Given the description of an element on the screen output the (x, y) to click on. 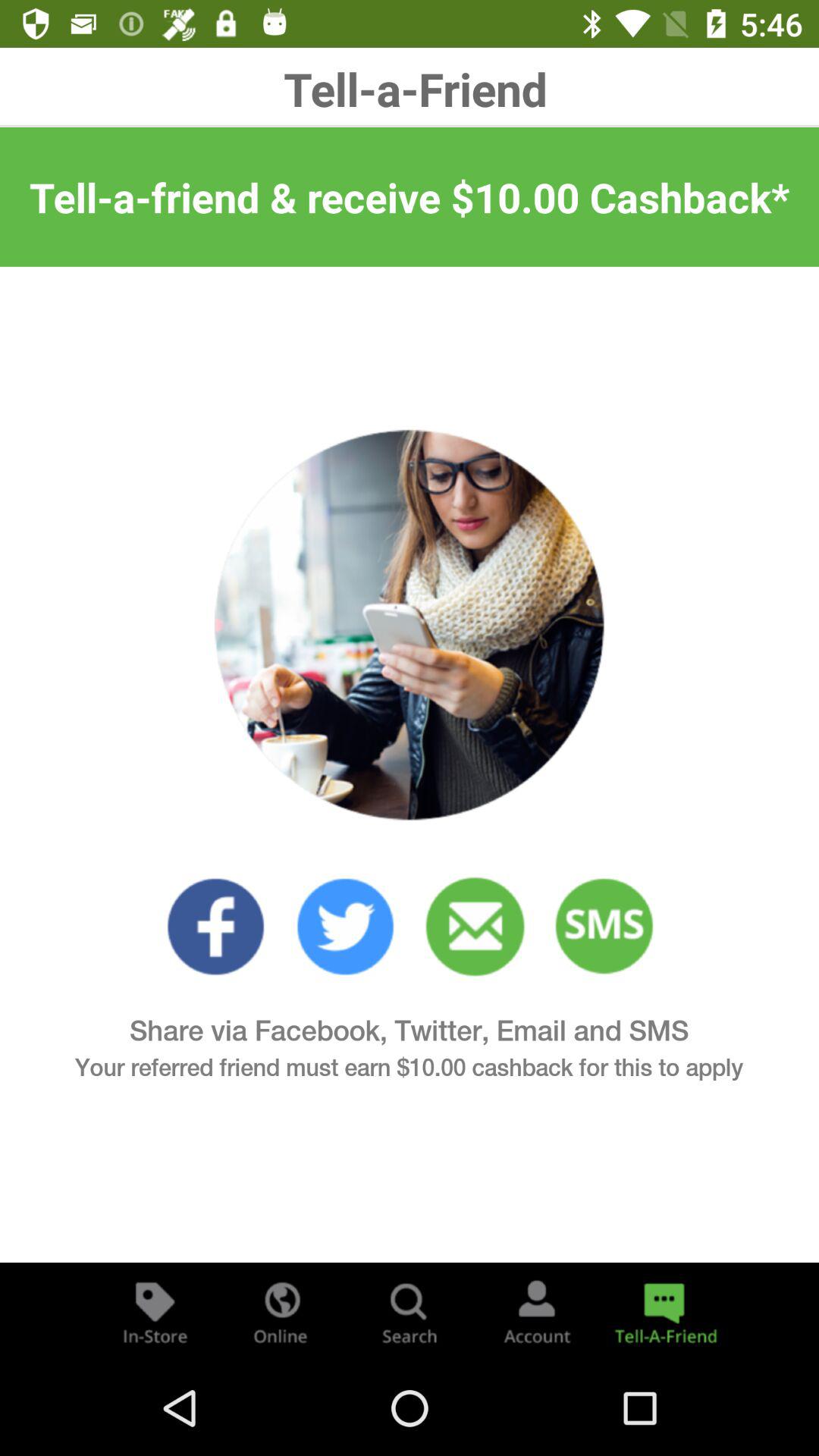
send text message (604, 926)
